Given the description of an element on the screen output the (x, y) to click on. 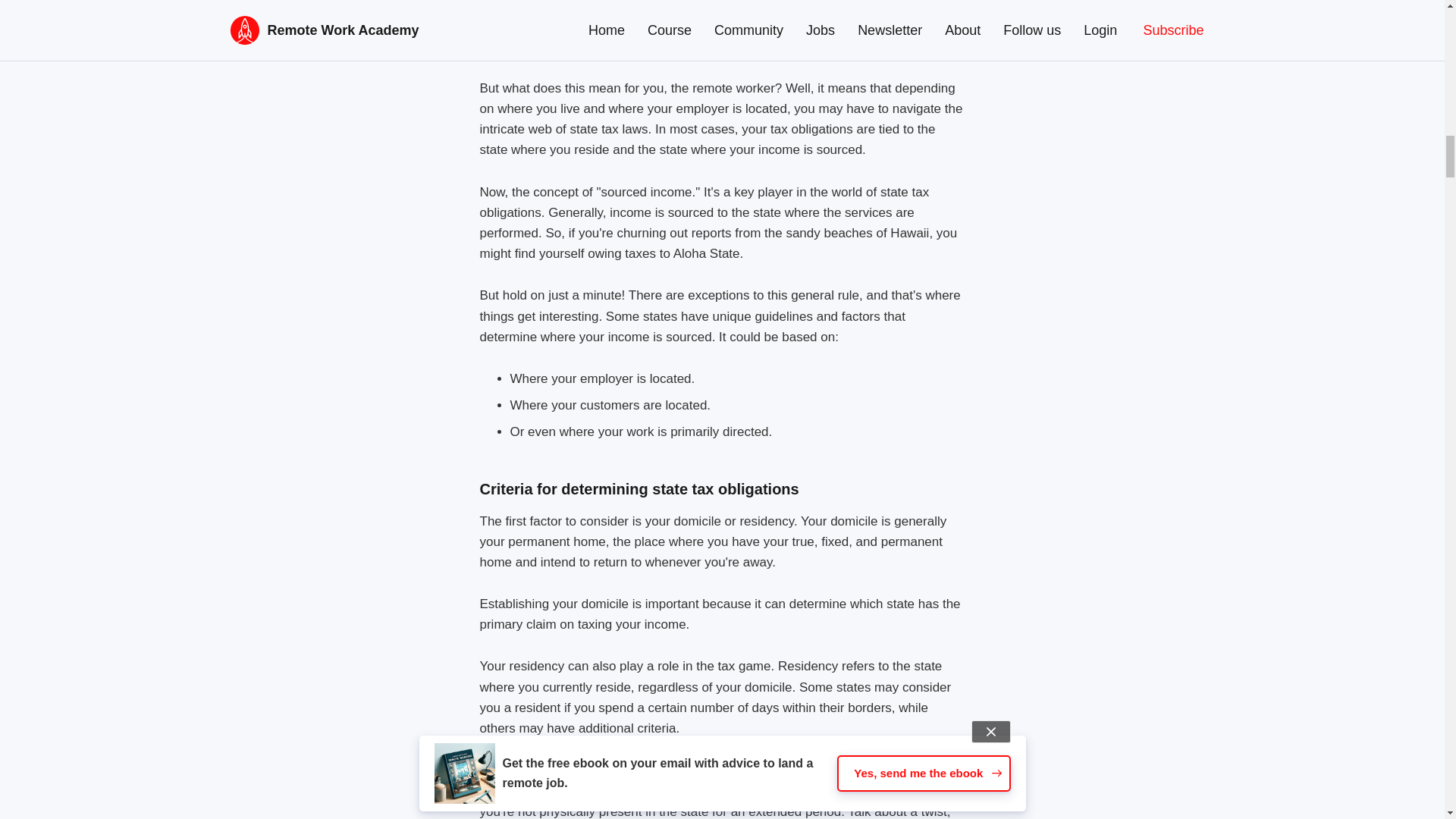
statutory residency (538, 789)
flat income tax (637, 6)
countries with no income tax (707, 46)
